Given the description of an element on the screen output the (x, y) to click on. 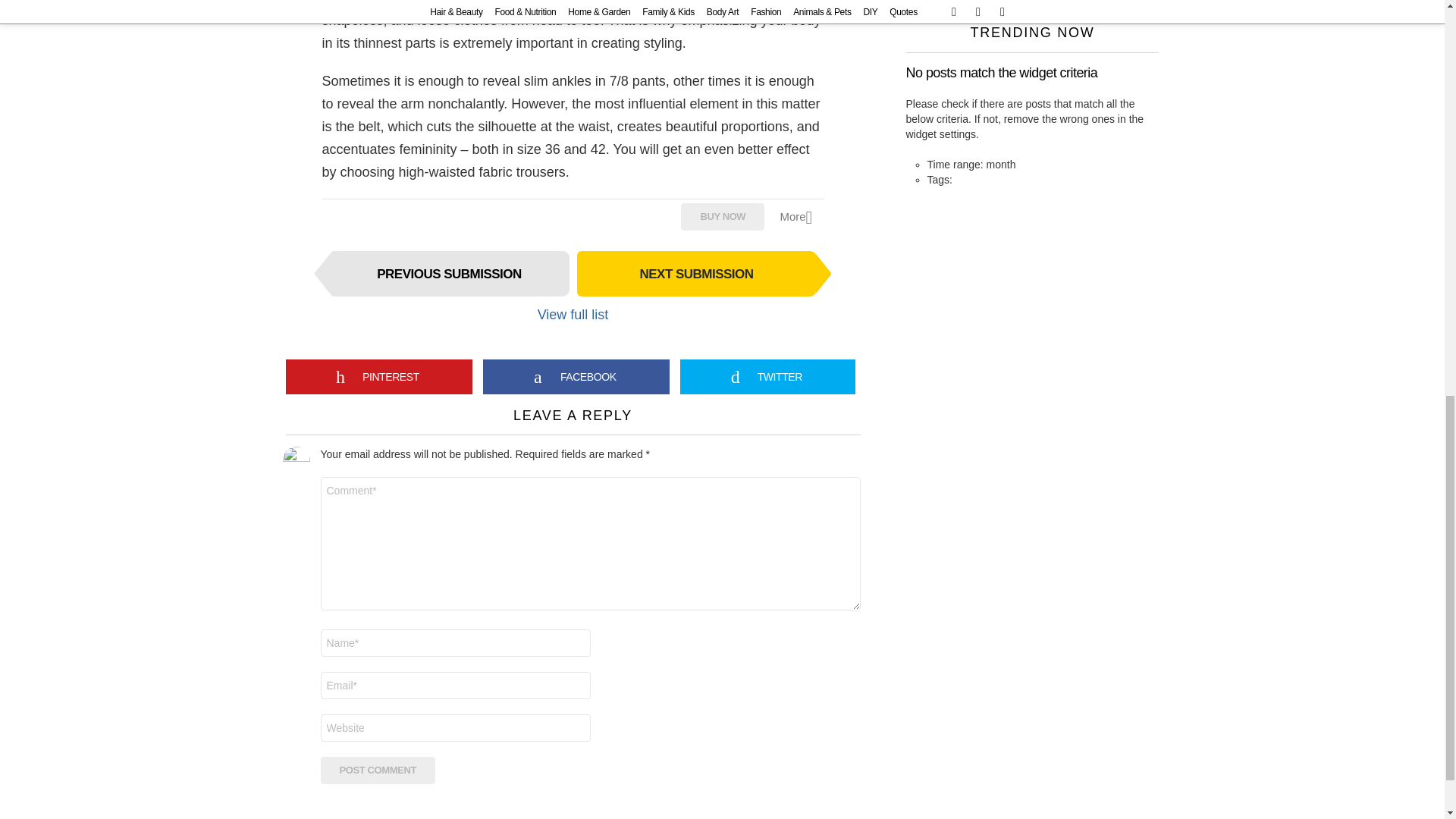
NEXT SUBMISSION (695, 273)
View full list (572, 314)
Share on Twitter (767, 376)
PREVIOUS SUBMISSION (449, 273)
Share on Pinterest (378, 376)
Post Comment (377, 769)
TWITTER (767, 376)
More (801, 217)
Share on Facebook (576, 376)
PINTEREST (378, 376)
BUY NOW (722, 216)
FACEBOOK (576, 376)
